Given the description of an element on the screen output the (x, y) to click on. 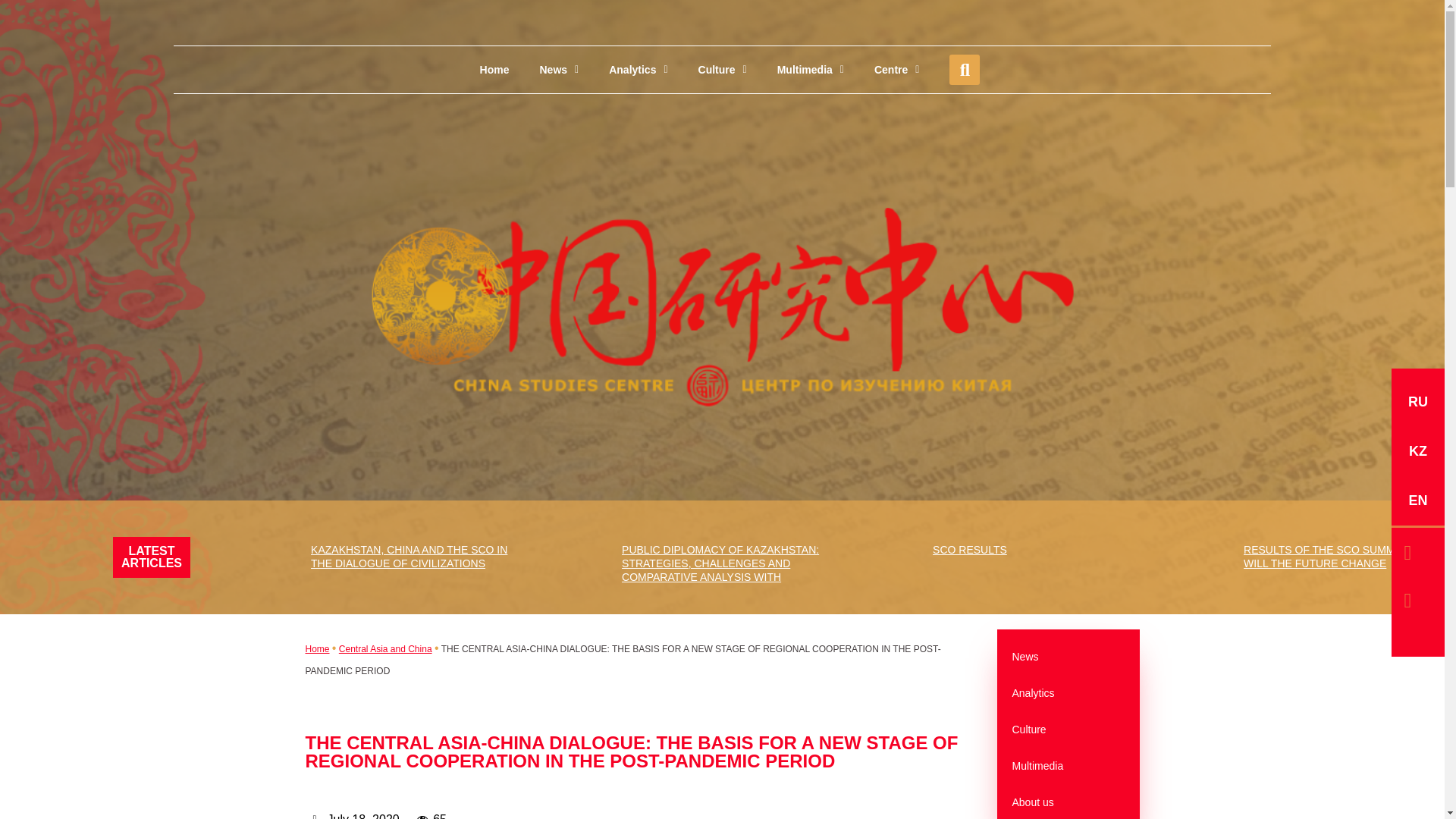
News (559, 69)
Multimedia (810, 69)
Central Asia and China (385, 648)
Home (494, 69)
Home (316, 648)
Analytics (638, 69)
Centre (896, 69)
Culture (721, 69)
